Given the description of an element on the screen output the (x, y) to click on. 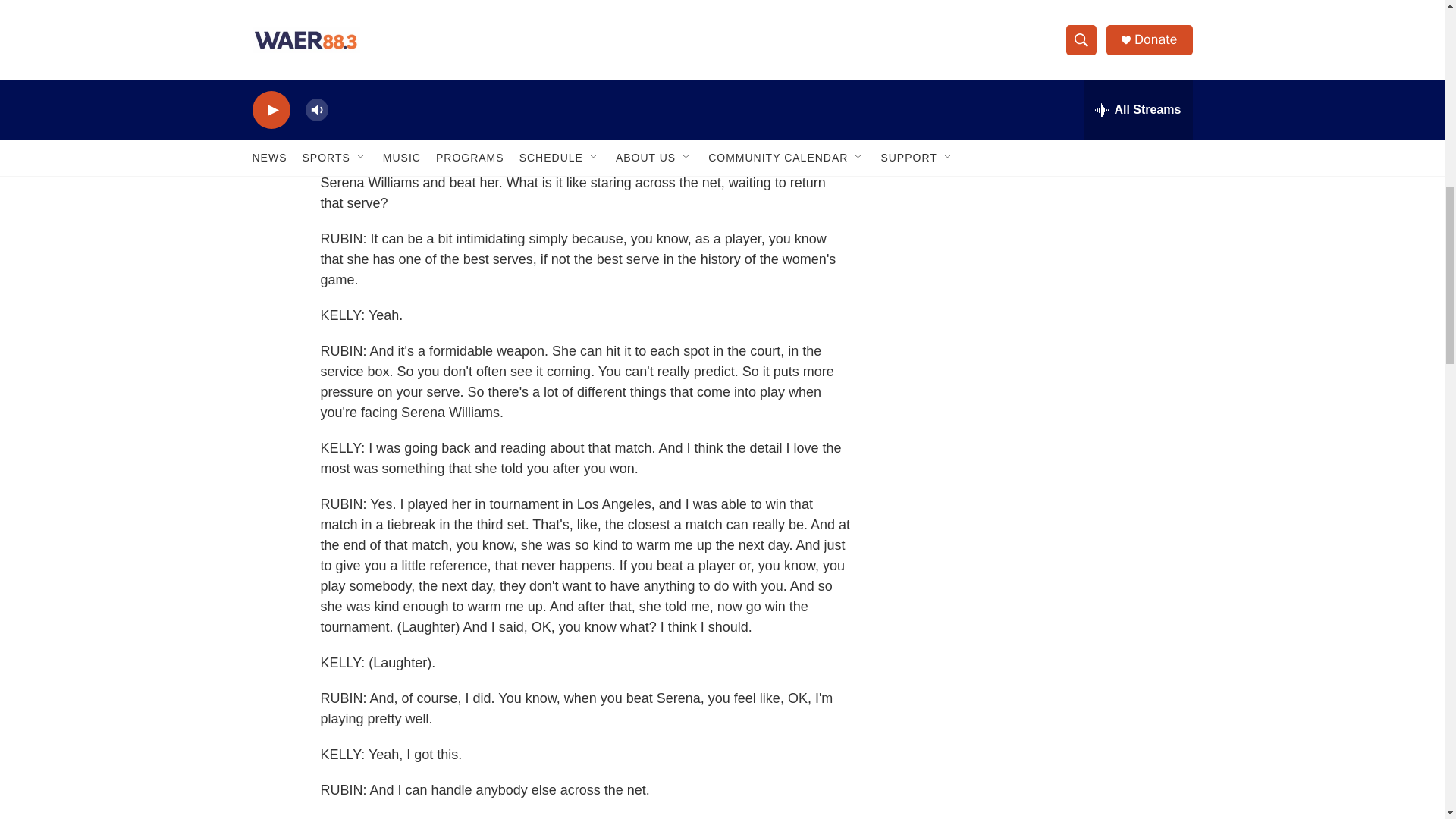
3rd party ad content (1062, 16)
